Given the description of an element on the screen output the (x, y) to click on. 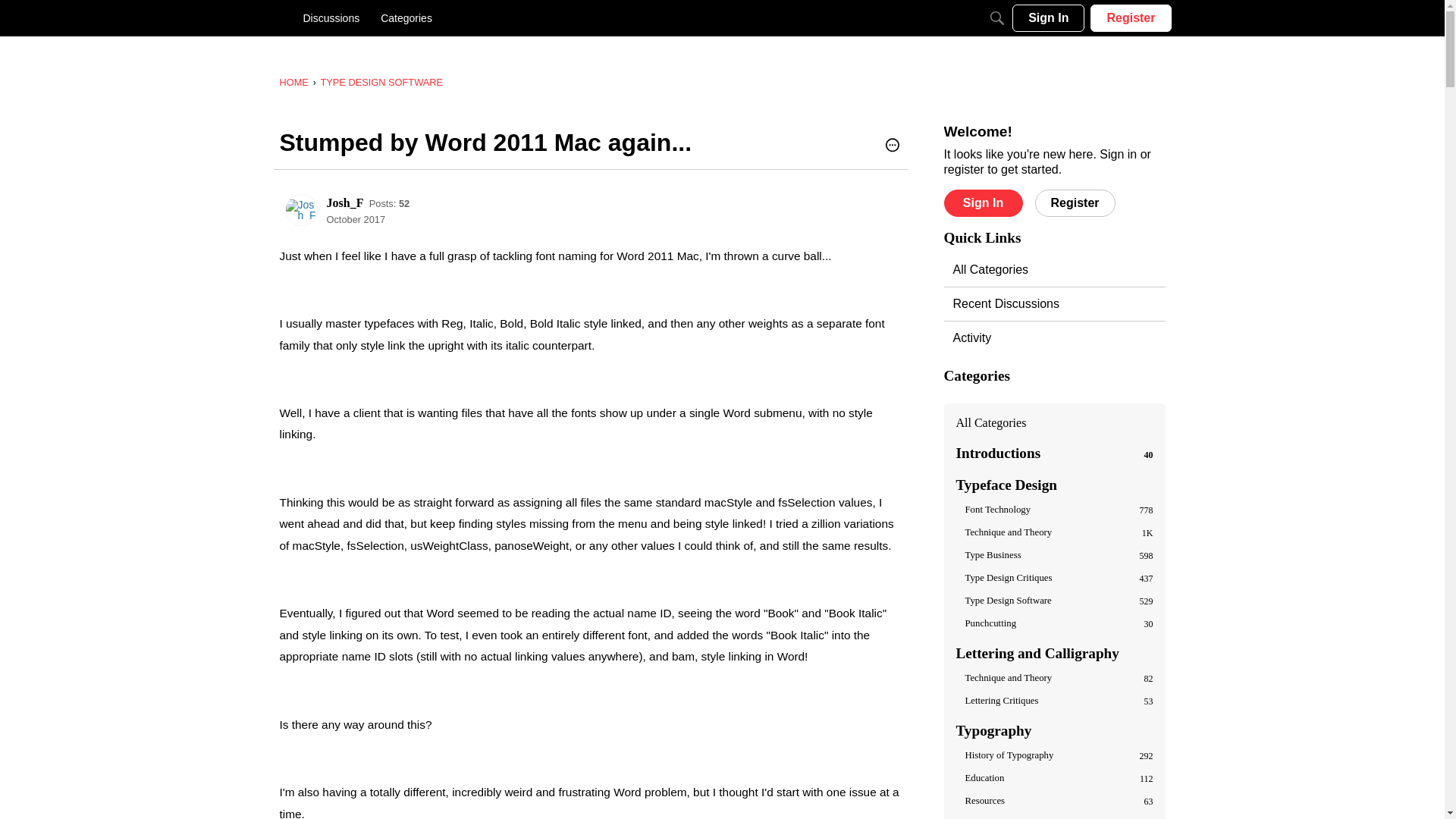
Categories (406, 17)
Sign In (1047, 17)
TYPE DESIGN SOFTWARE (381, 81)
HOME (293, 81)
Search (997, 17)
October 15, 2017 4:43AM (355, 219)
Discussions (331, 17)
Register (1130, 17)
October 2017 (355, 219)
